Given the description of an element on the screen output the (x, y) to click on. 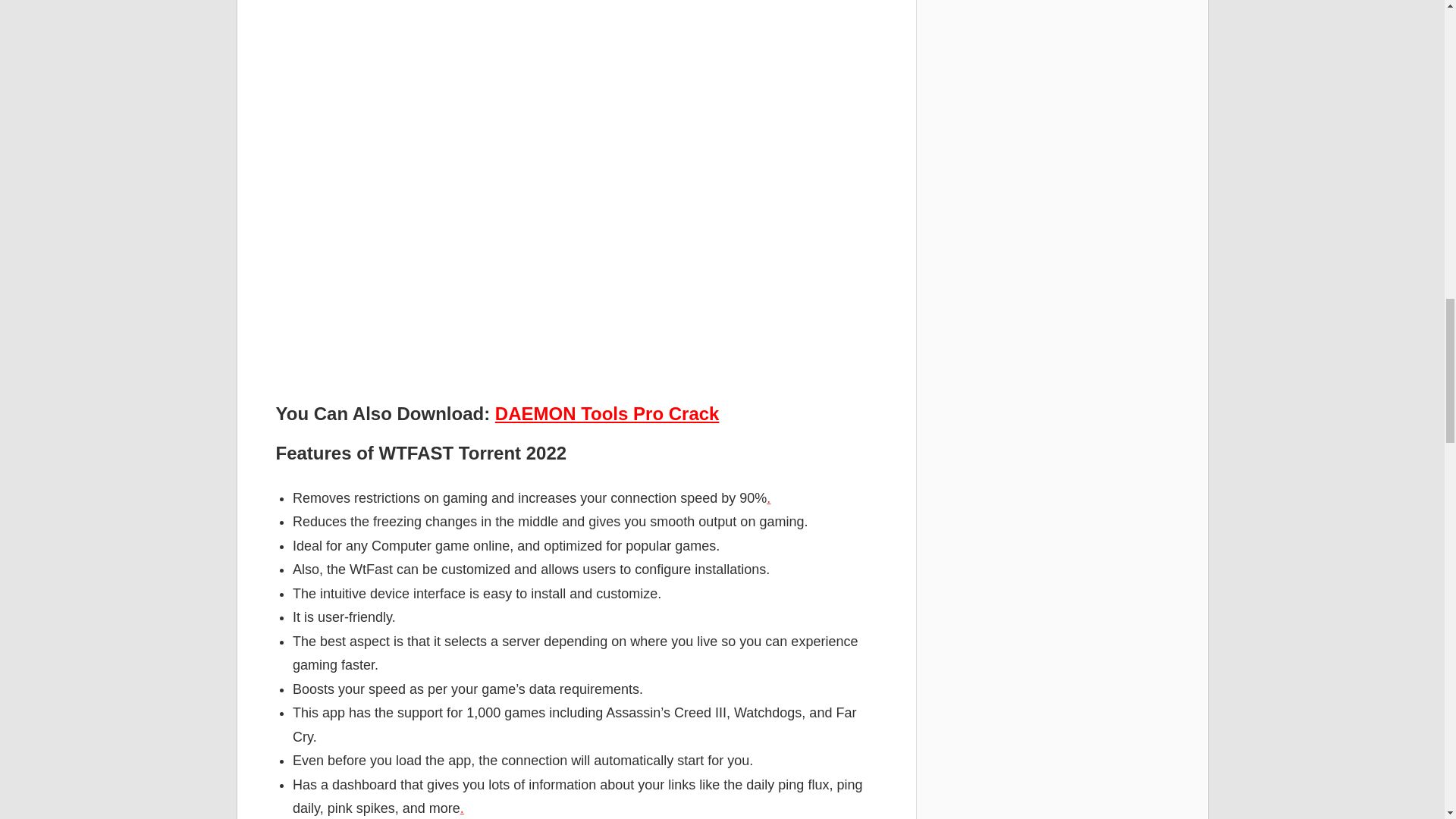
. (462, 807)
DAEMON Tools Pro Crack (607, 413)
. (768, 498)
